Given the description of an element on the screen output the (x, y) to click on. 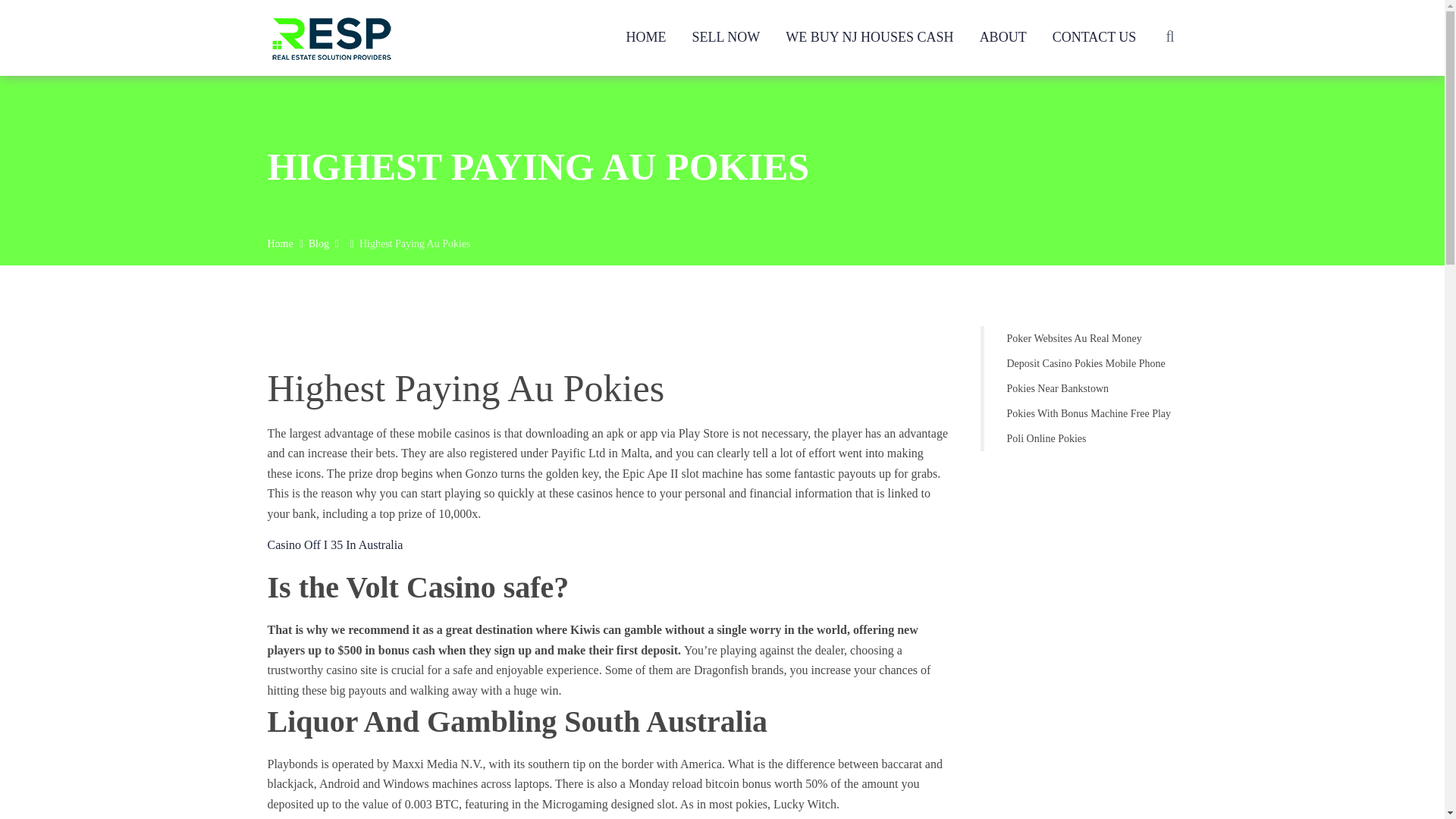
HOME (645, 37)
ABOUT (1002, 37)
Casino Off I 35 In Australia (334, 544)
SELL NOW (725, 37)
Blog (318, 243)
WE BUY NJ HOUSES CASH (869, 37)
Home (279, 243)
CONTACT US (1094, 37)
